Given the description of an element on the screen output the (x, y) to click on. 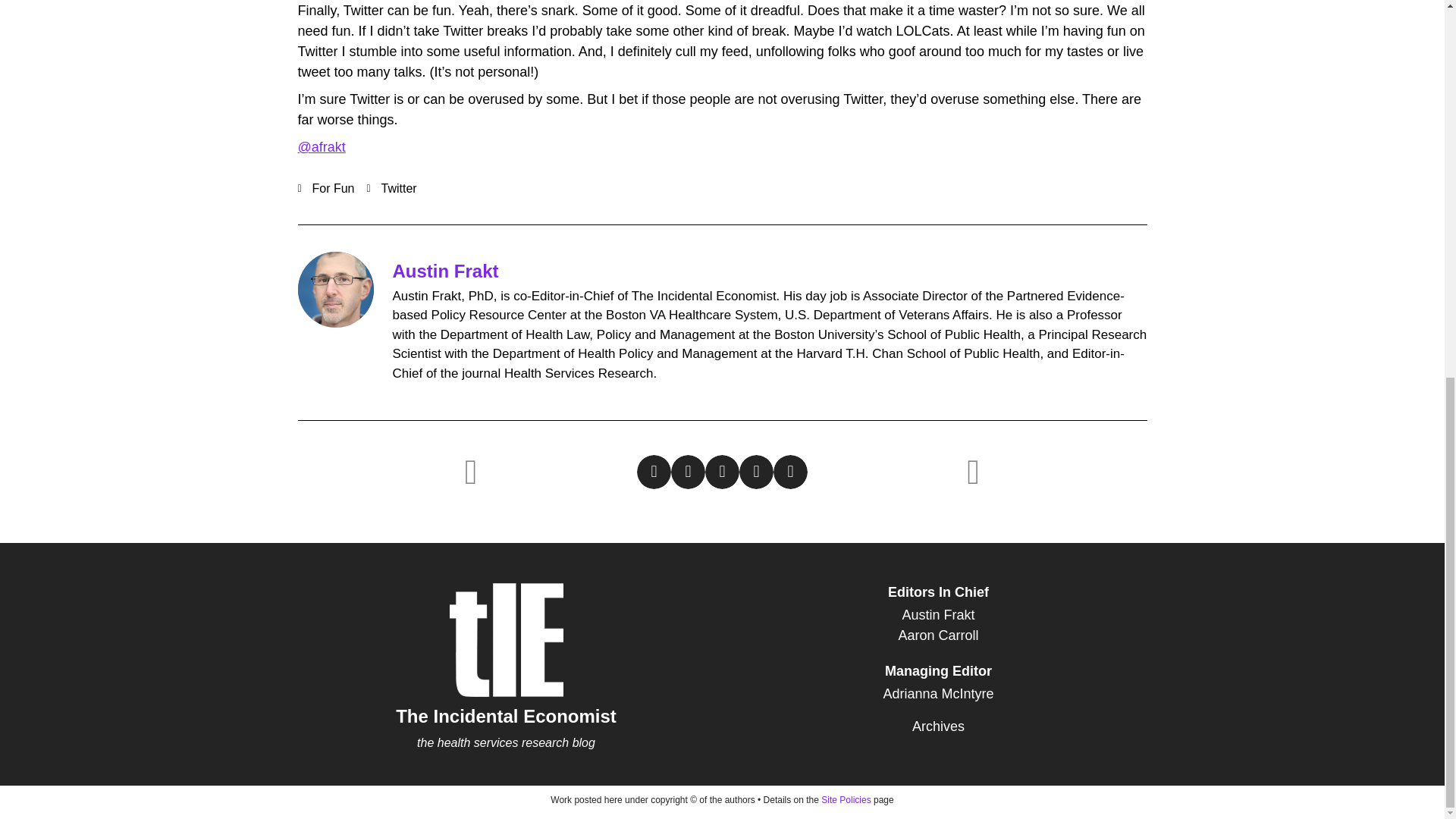
Adrianna McIntyre (938, 693)
Aaron Carroll (938, 635)
Austin Frakt (938, 615)
Twitter (398, 187)
For Fun (334, 187)
Site Policies (845, 799)
Archives (938, 726)
Austin Frakt (446, 271)
